Given the description of an element on the screen output the (x, y) to click on. 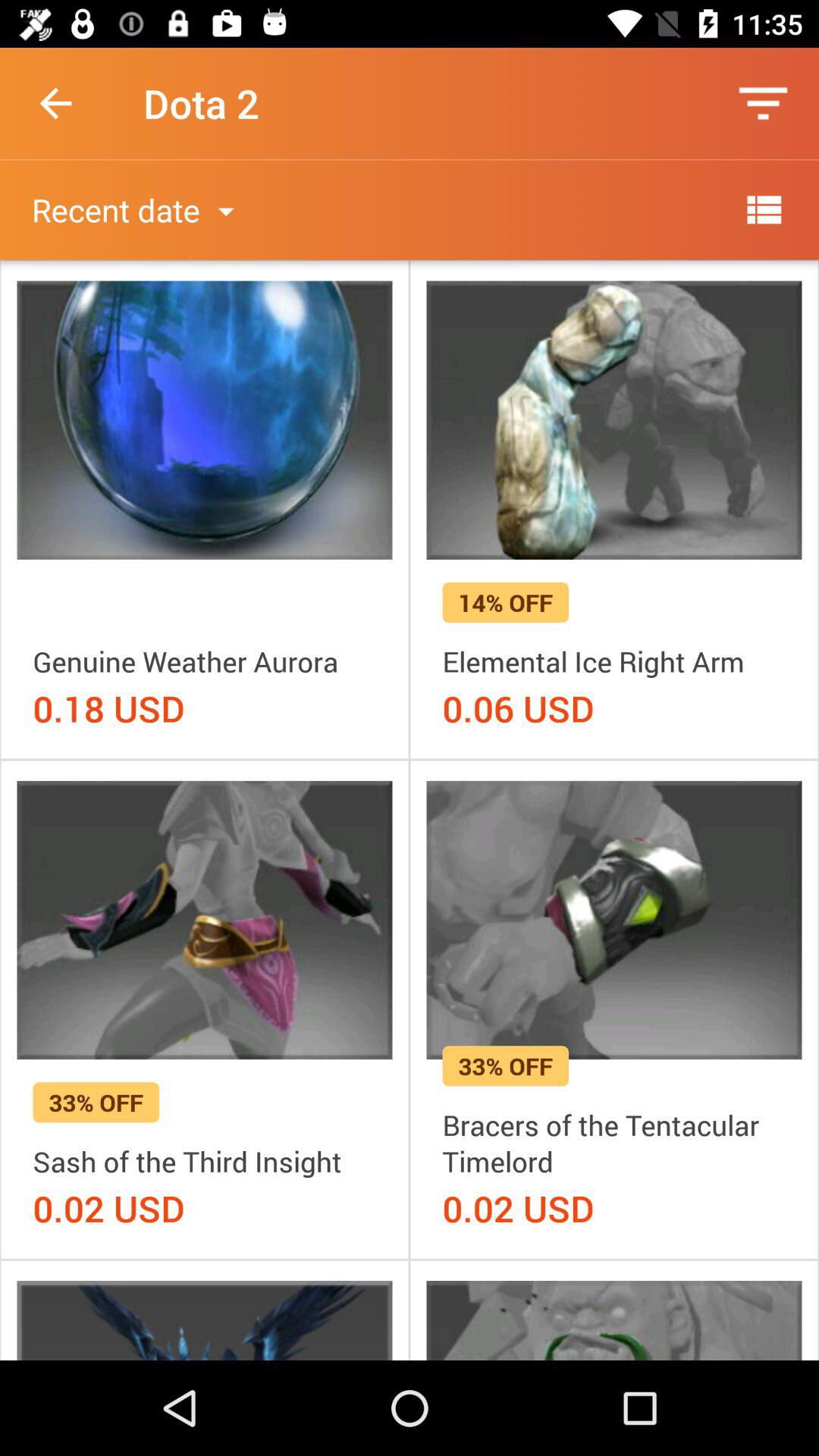
go to categories (763, 209)
